Given the description of an element on the screen output the (x, y) to click on. 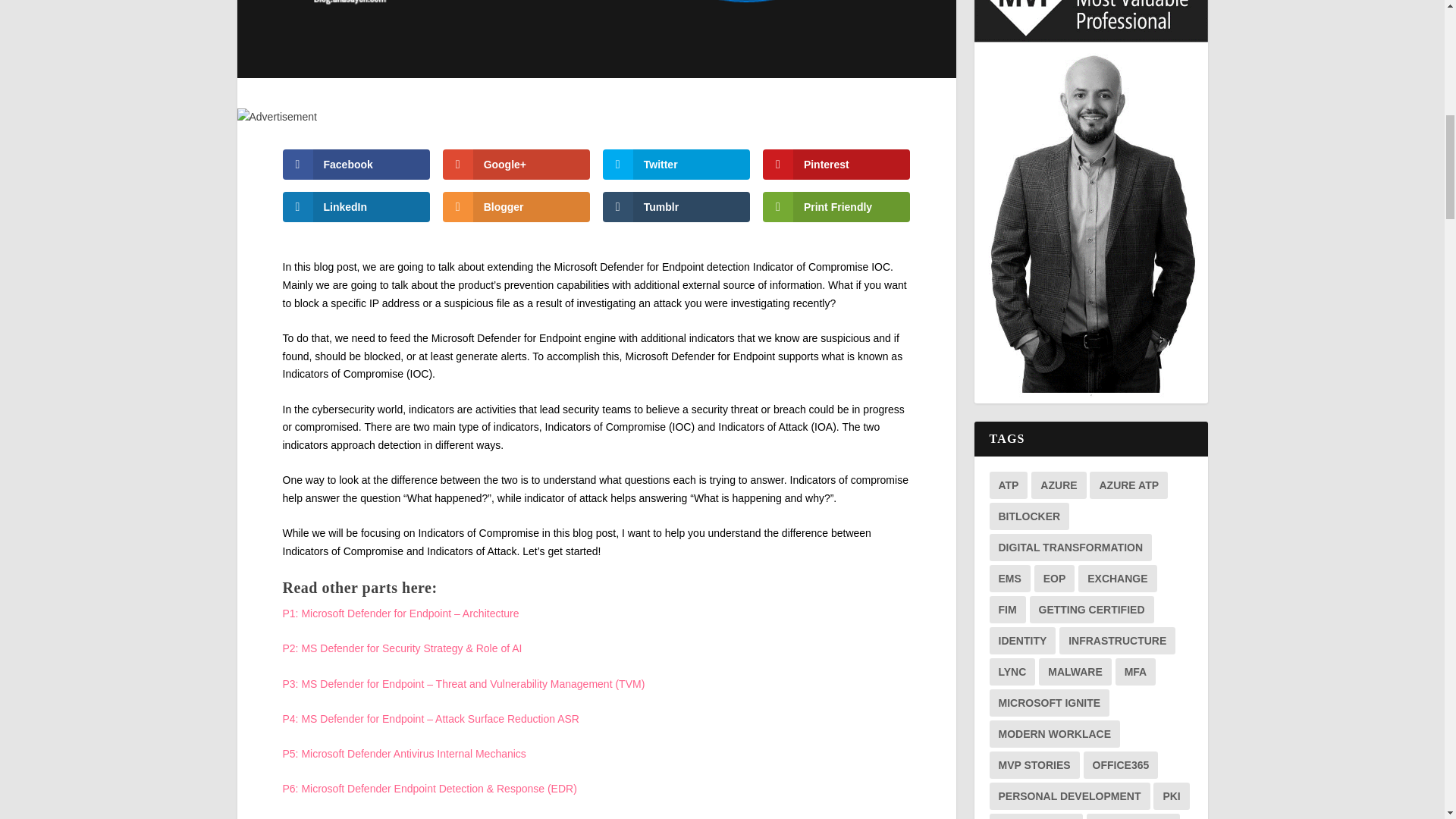
Facebook (355, 164)
Print Friendly (836, 206)
Twitter (676, 164)
Tumblr (676, 206)
Pinterest (836, 164)
Blogger (516, 206)
LinkedIn (355, 206)
